Given the description of an element on the screen output the (x, y) to click on. 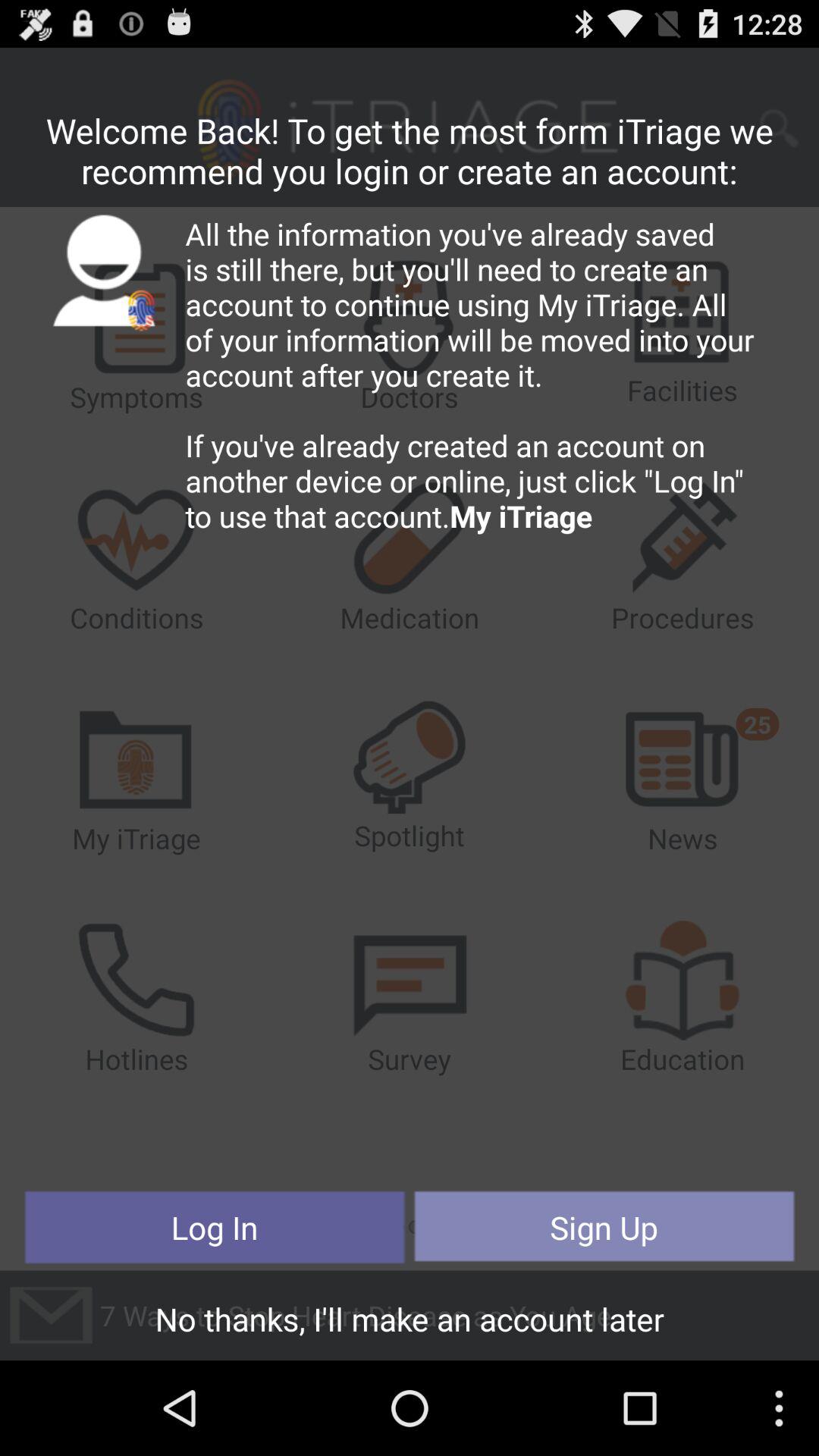
tap icon at the bottom right corner (604, 1227)
